Given the description of an element on the screen output the (x, y) to click on. 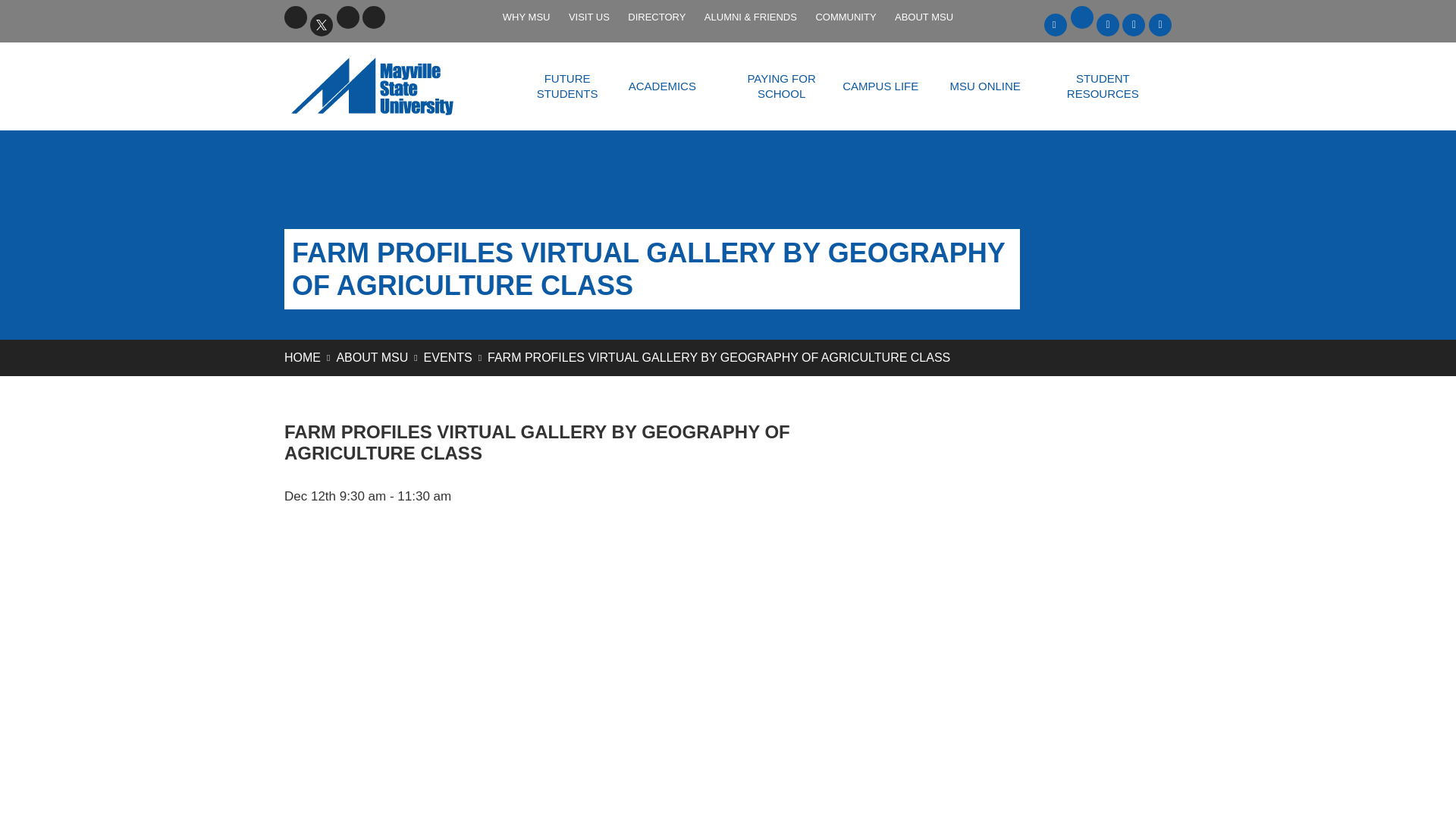
YouTube (347, 16)
ABOUT MSU (923, 16)
Events (447, 357)
WHY MSU (526, 16)
BlackBoard (1055, 24)
About MSU (371, 357)
DIRECTORY (656, 16)
Campus Connection (1133, 24)
ACADEMICS (662, 86)
Starfish (1160, 24)
VISIT US (588, 16)
COMMUNITY (845, 16)
FUTURE STUDENTS (567, 85)
Instagram (373, 16)
